Given the description of an element on the screen output the (x, y) to click on. 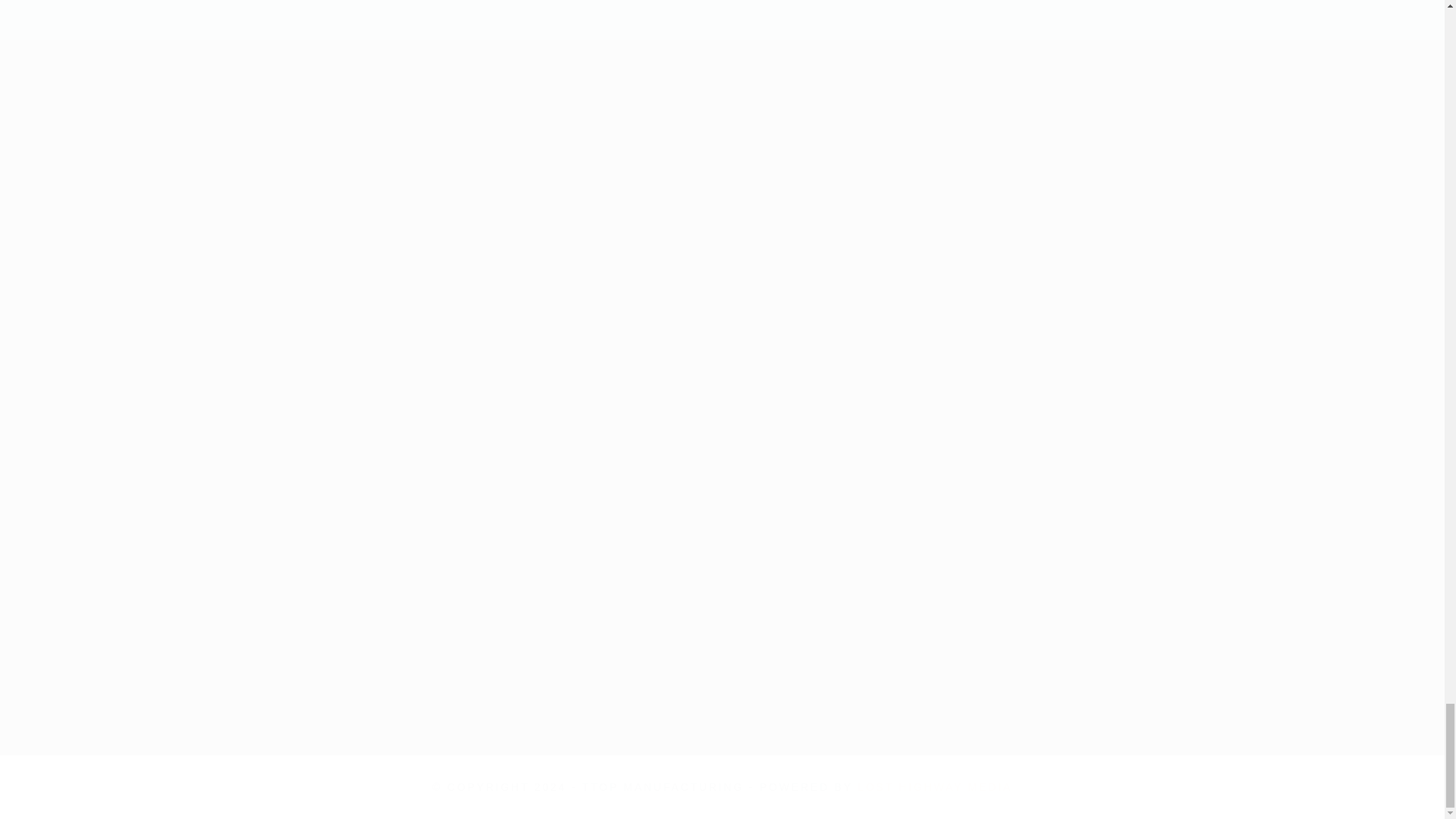
LOST HIGHWAY MEDIA (934, 787)
